Given the description of an element on the screen output the (x, y) to click on. 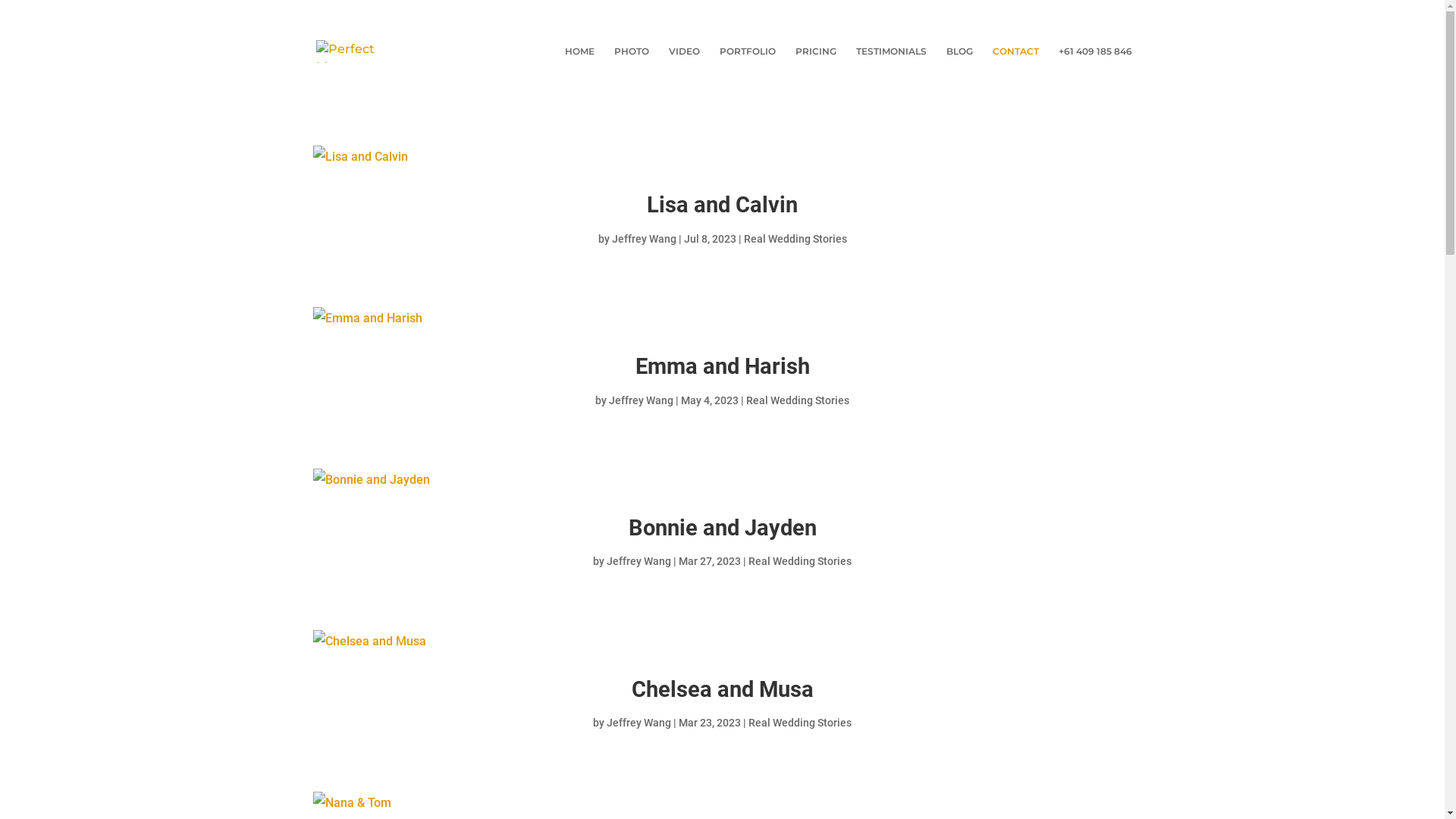
Real Wedding Stories Element type: text (797, 400)
BLOG Element type: text (959, 63)
+61 409 185 846 Element type: text (1095, 63)
Jeffrey Wang Element type: text (638, 722)
VIDEO Element type: text (683, 63)
Jeffrey Wang Element type: text (640, 400)
Lisa and Calvin Element type: text (721, 204)
PORTFOLIO Element type: text (746, 63)
CONTACT Element type: text (1014, 63)
Emma and Harish Element type: text (722, 366)
Jeffrey Wang Element type: text (643, 238)
Chelsea and Musa Element type: text (721, 689)
Real Wedding Stories Element type: text (799, 561)
Real Wedding Stories Element type: text (794, 238)
Jeffrey Wang Element type: text (638, 561)
Bonnie and Jayden Element type: text (721, 527)
PRICING Element type: text (814, 63)
Real Wedding Stories Element type: text (799, 722)
PHOTO Element type: text (631, 63)
TESTIMONIALS Element type: text (890, 63)
HOME Element type: text (578, 63)
